Given the description of an element on the screen output the (x, y) to click on. 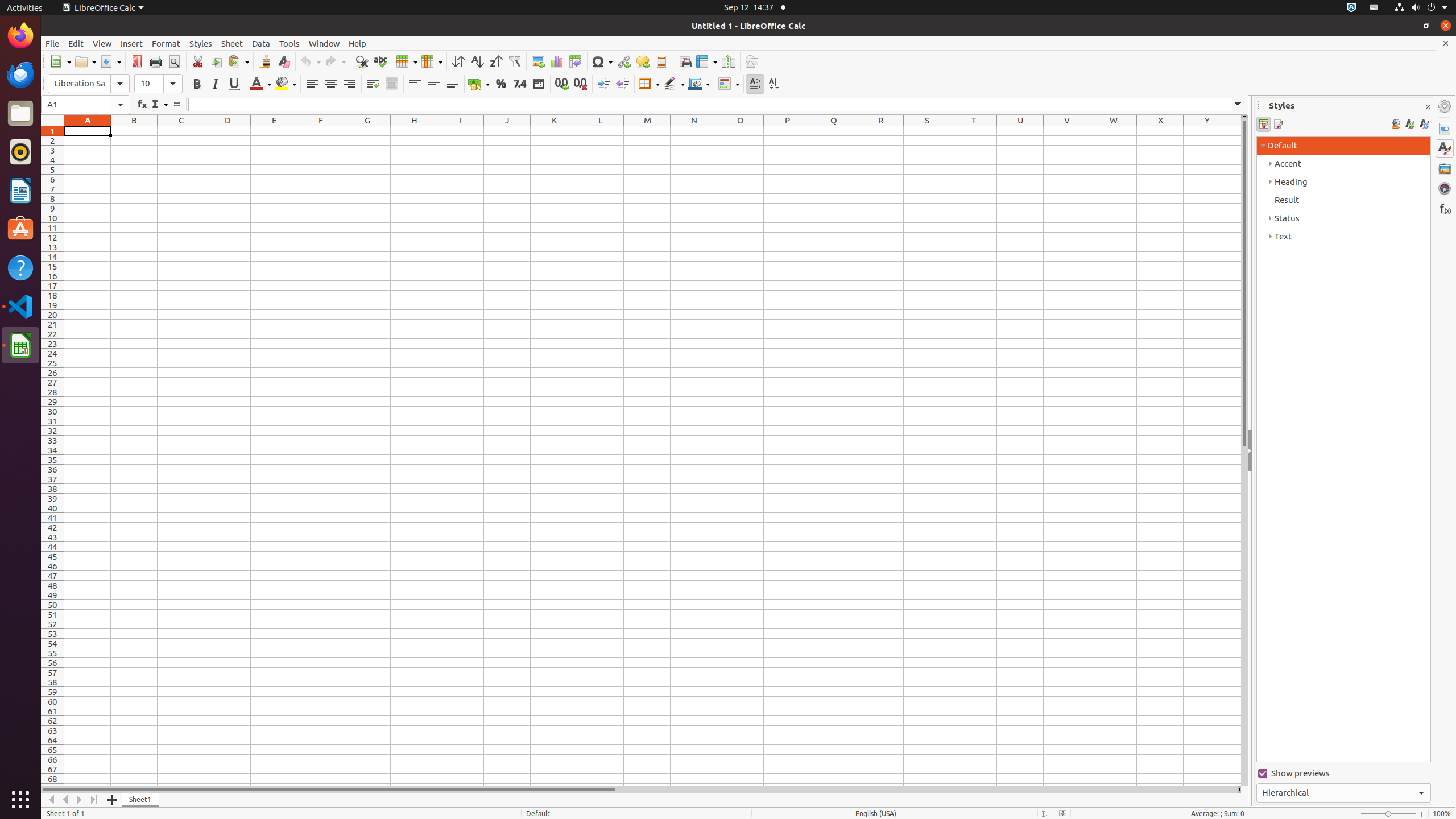
Currency Element type: push-button (478, 83)
Gallery Element type: radio-button (1444, 168)
Date Element type: push-button (537, 83)
Comment Element type: push-button (642, 61)
O1 Element type: table-cell (740, 130)
